Given the description of an element on the screen output the (x, y) to click on. 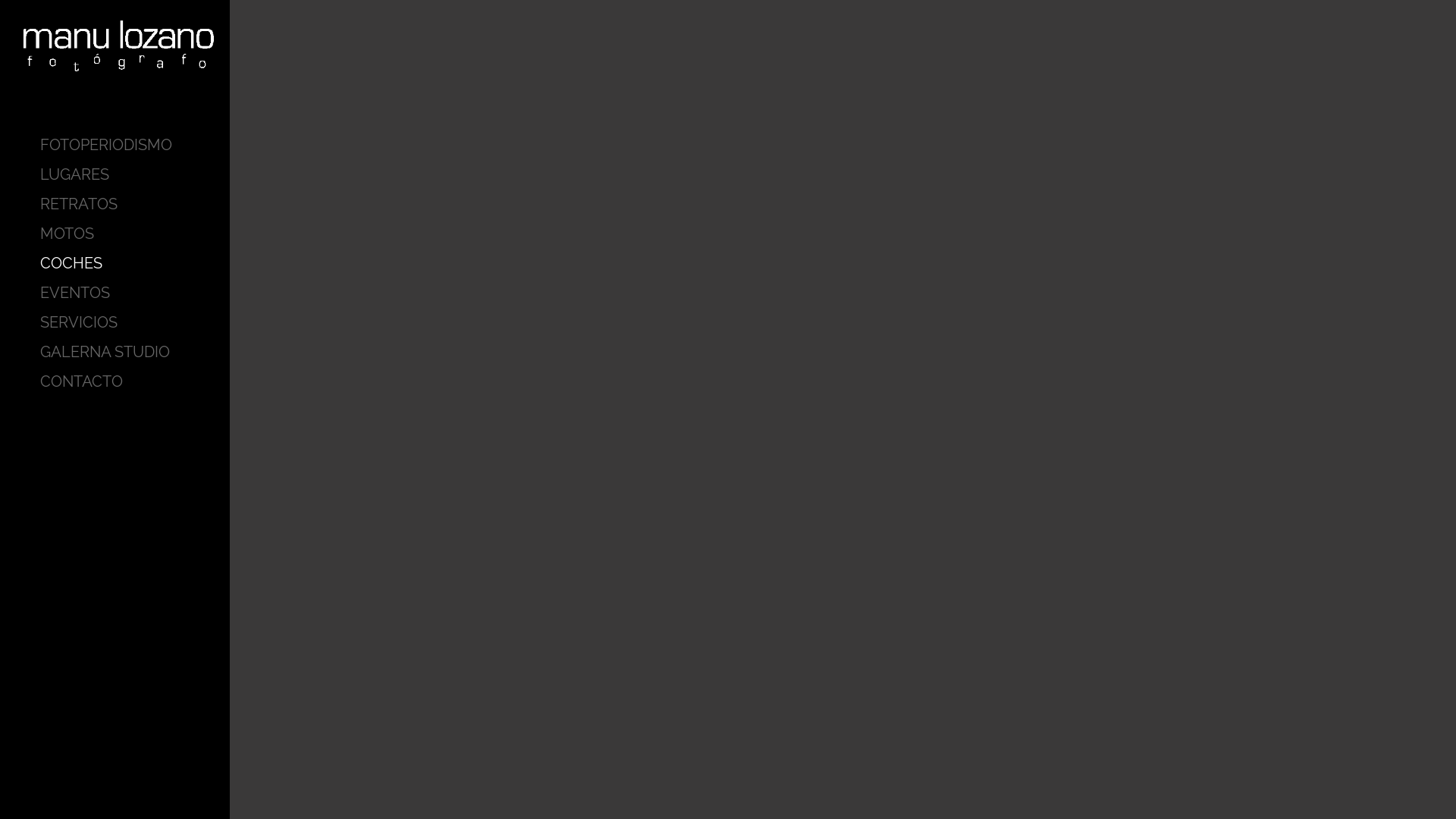
SERVICIOS Element type: text (105, 322)
COCHES Element type: text (105, 263)
FOTOPERIODISMO Element type: text (105, 144)
EVENTOS Element type: text (105, 292)
RETRATOS Element type: text (105, 203)
LUGARES Element type: text (105, 174)
MOTOS Element type: text (105, 233)
CONTACTO Element type: text (105, 381)
GALERNA STUDIO Element type: text (105, 351)
